Given the description of an element on the screen output the (x, y) to click on. 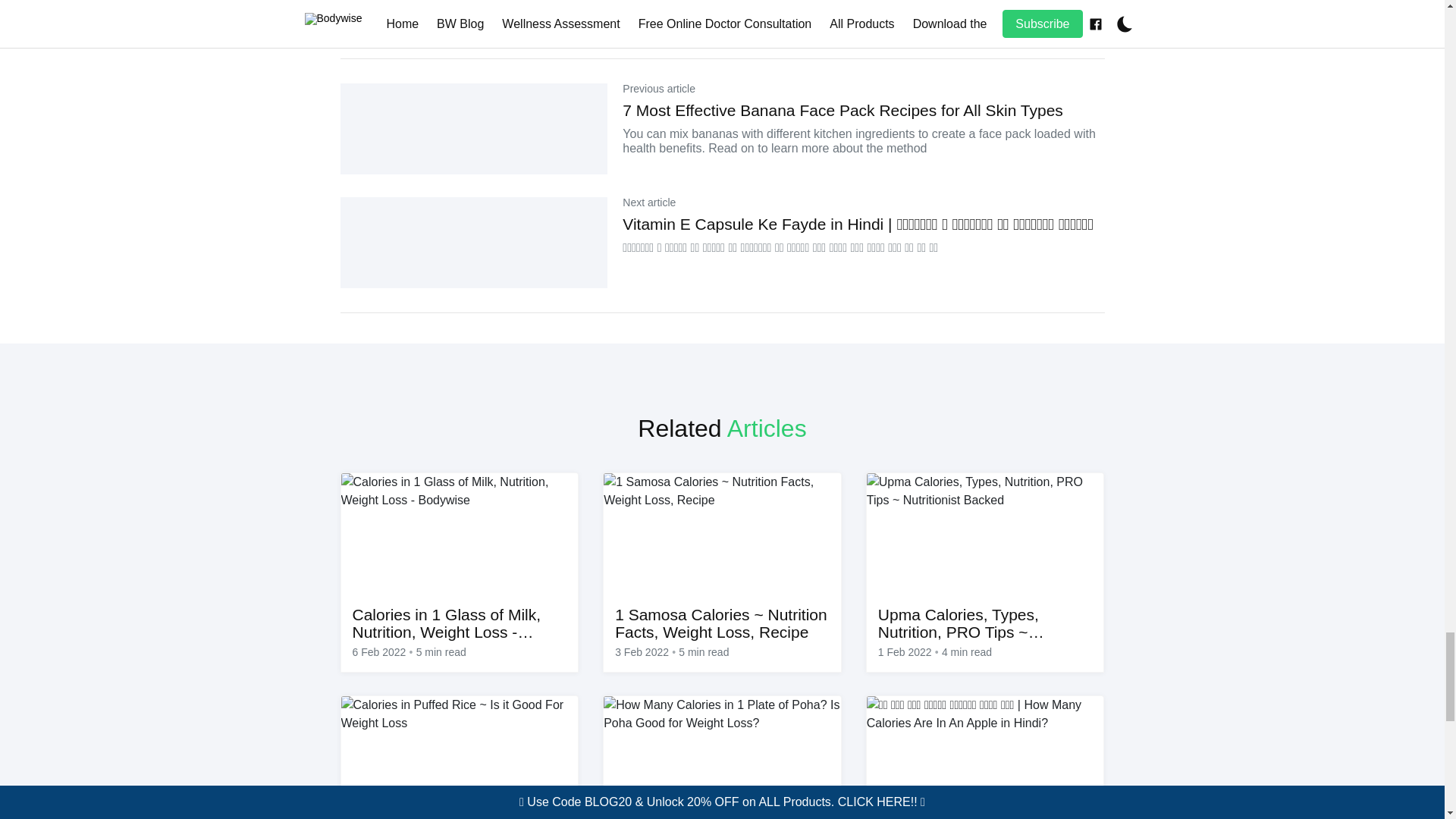
Diet (370, 13)
5 min read (703, 652)
5 min read (440, 652)
4 min read (966, 652)
